Given the description of an element on the screen output the (x, y) to click on. 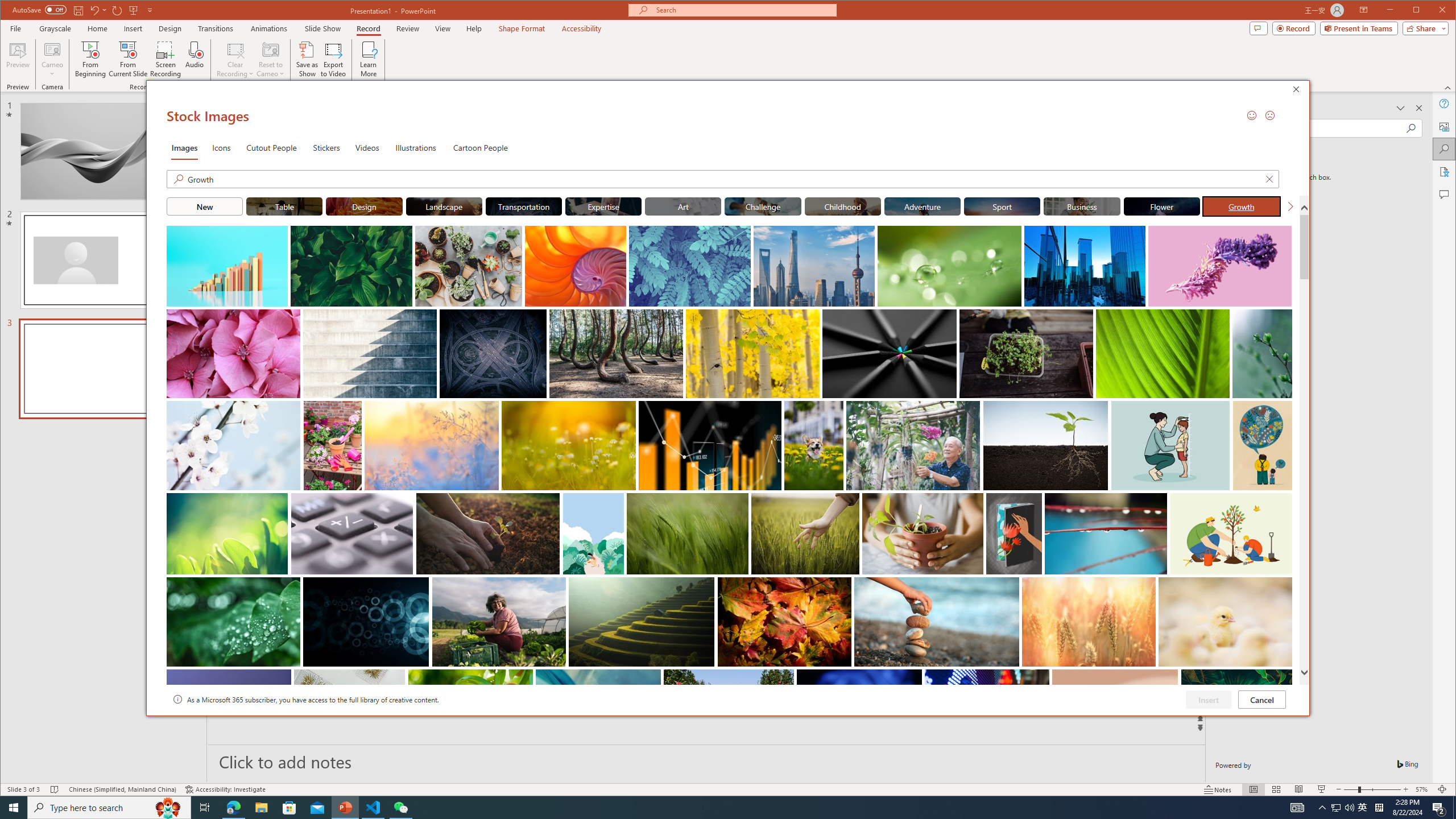
Send a Smile (1251, 115)
From Beginning... (90, 59)
Transitions (215, 28)
Shape Format (521, 28)
"Design" Stock Images. (364, 206)
"Business" Stock Images. (1082, 206)
"Expertise" Stock Images. (603, 206)
Send a Frown (1269, 115)
Accessibility (1444, 171)
Quick Access Toolbar (83, 9)
Thumbnail (1283, 677)
Task Pane Options (1400, 107)
